Given the description of an element on the screen output the (x, y) to click on. 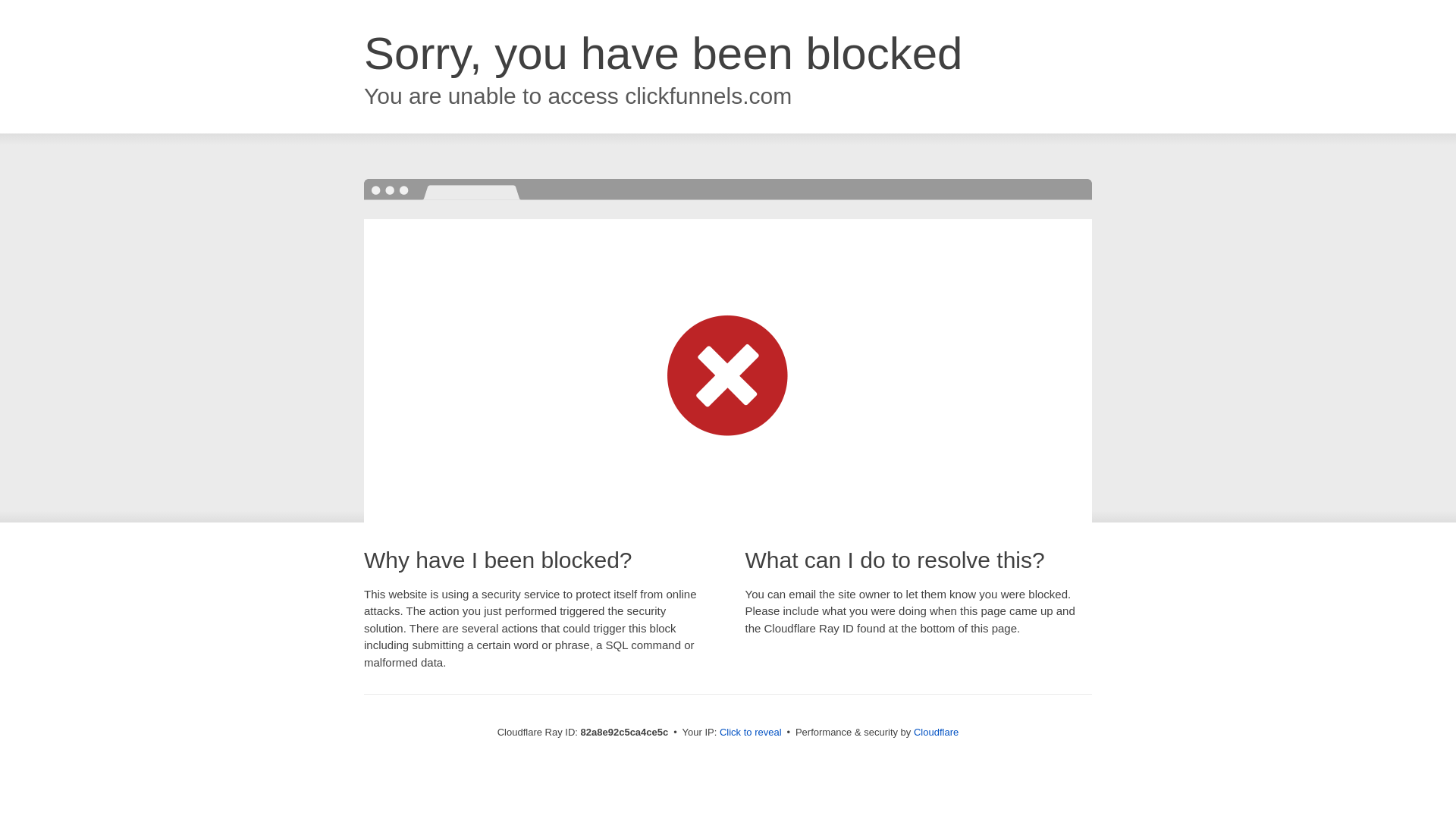
Click to reveal Element type: text (750, 732)
Cloudflare Element type: text (935, 731)
